Given the description of an element on the screen output the (x, y) to click on. 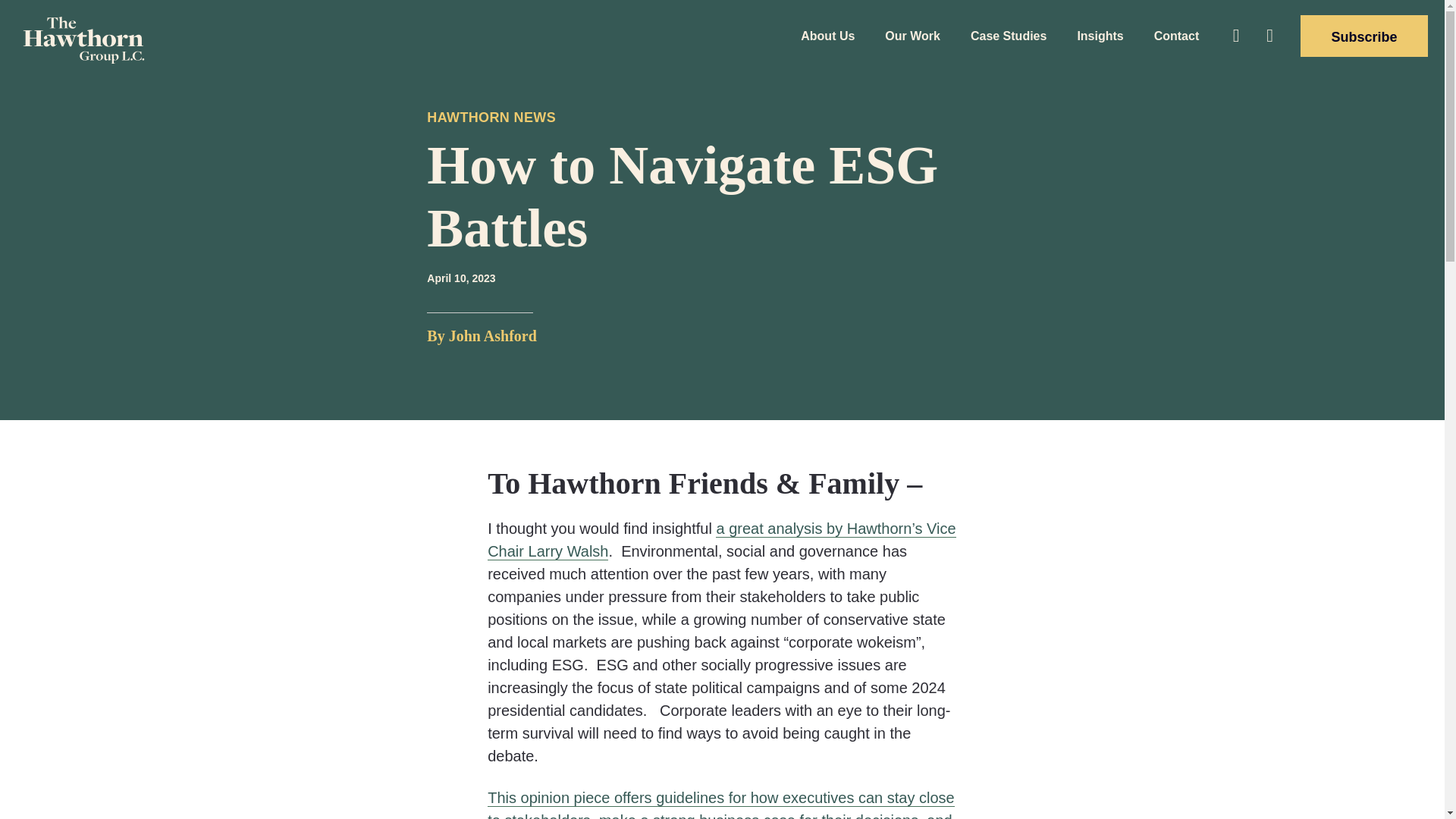
Case Studies (1008, 35)
Twitter Link (1236, 35)
Subscribe (1364, 35)
LinkedIn Link (1269, 35)
Contact (1171, 35)
Our Work (912, 35)
Insights (1099, 35)
About Us (827, 35)
